Given the description of an element on the screen output the (x, y) to click on. 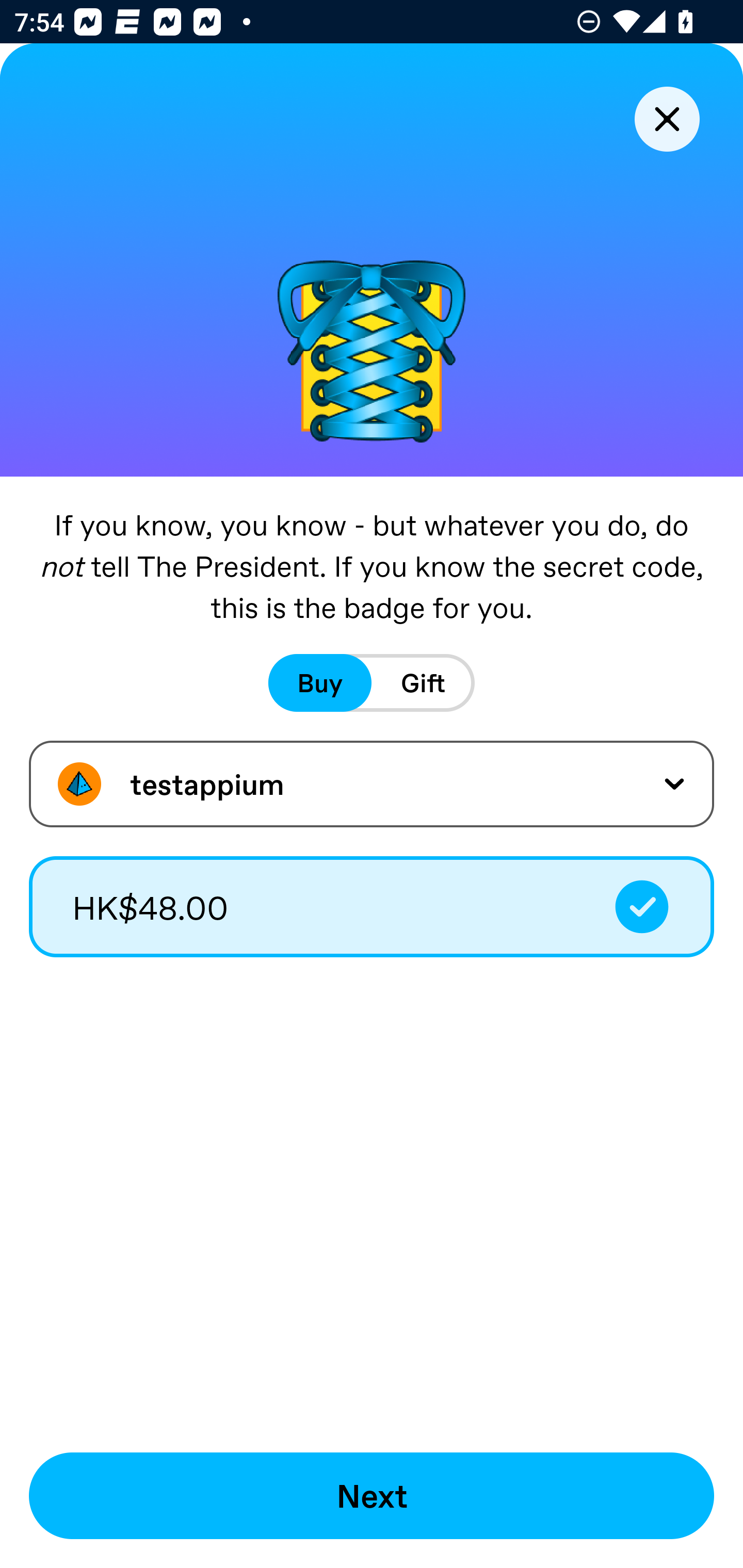
Buy (319, 682)
Gift (423, 682)
testappium (371, 783)
Next (371, 1495)
